Given the description of an element on the screen output the (x, y) to click on. 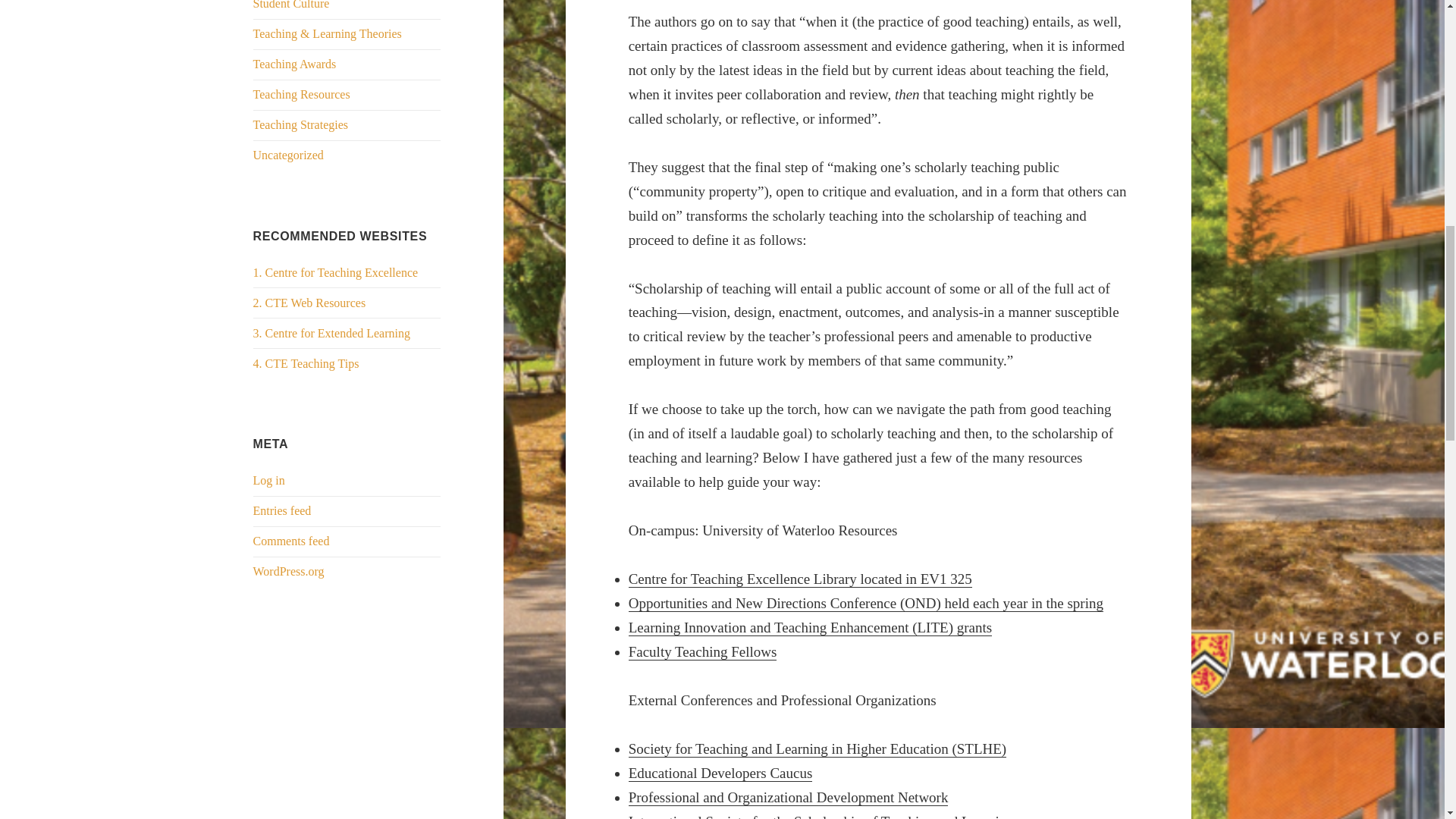
More than 100 brief articles about teaching strategies (306, 363)
Log in (269, 480)
Uncategorized (288, 154)
Comments feed (291, 540)
Teaching Awards (294, 63)
4. CTE Teaching Tips (306, 363)
Centre for Teaching Excellence Library located in EV1 325 (800, 579)
WordPress.org (288, 571)
3. Centre for Extended Learning (331, 332)
Entries feed (282, 510)
